Given the description of an element on the screen output the (x, y) to click on. 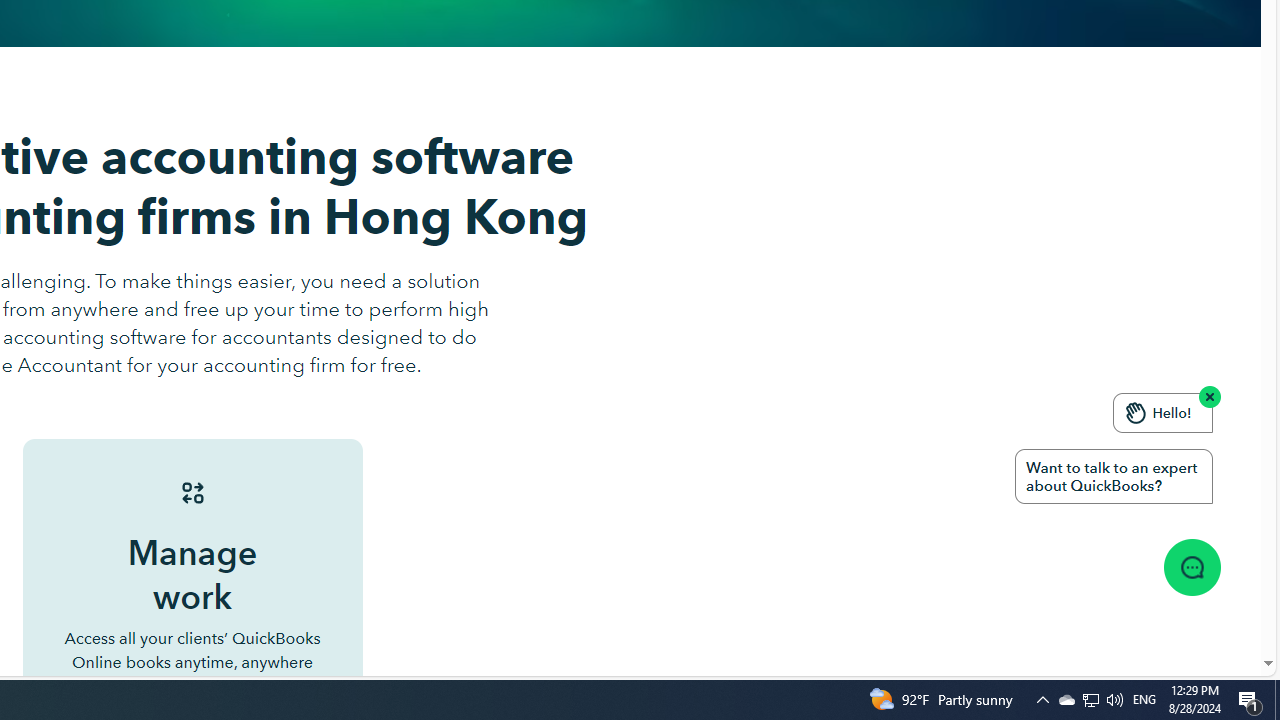
Class: message-icon_img-desktop (1191, 566)
hand-icon (1135, 412)
